Given the description of an element on the screen output the (x, y) to click on. 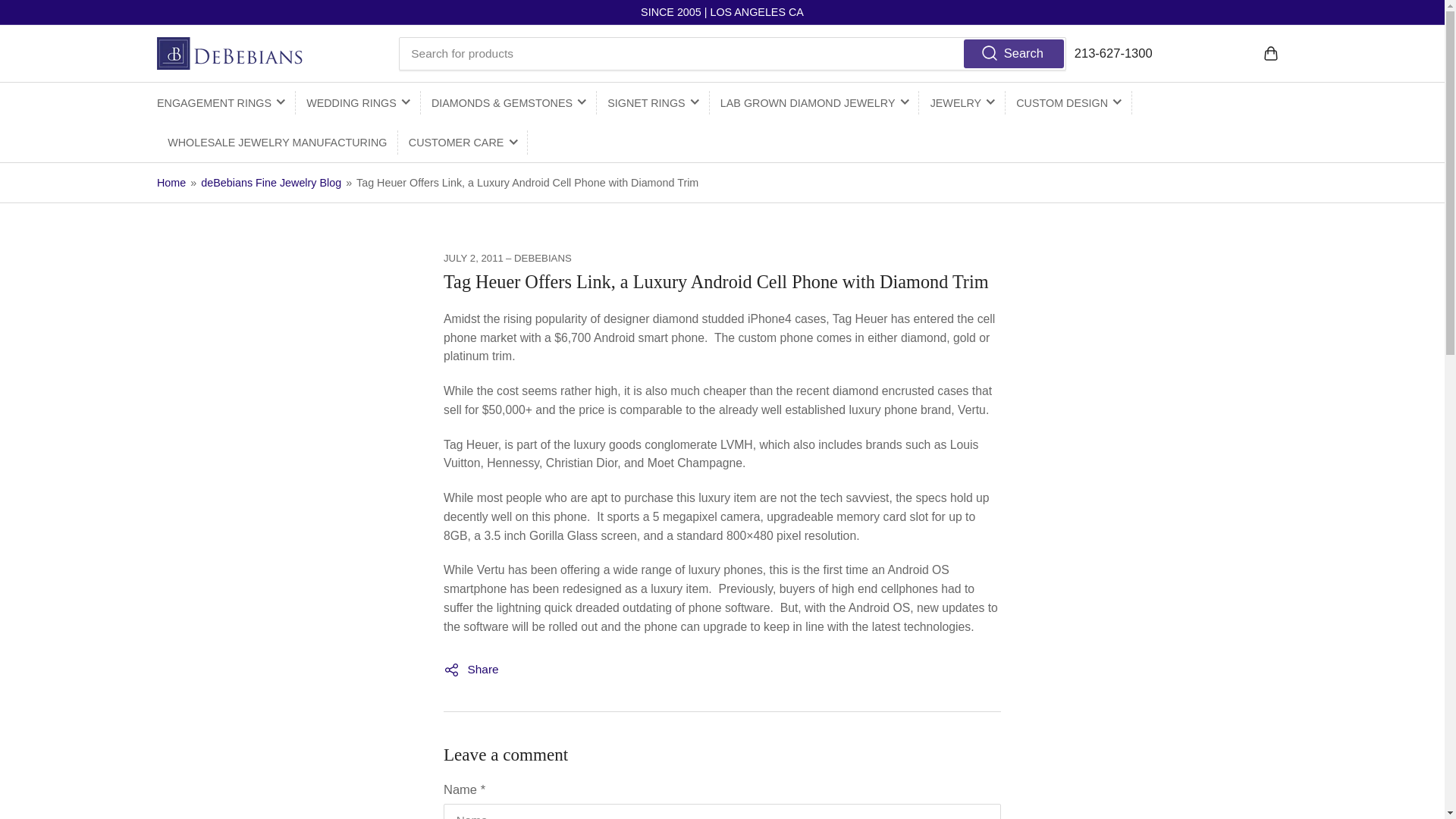
tel:213-627-1300 (1113, 52)
Search (1012, 52)
Open mini cart (1270, 53)
213-627-1300 (1113, 52)
